Given the description of an element on the screen output the (x, y) to click on. 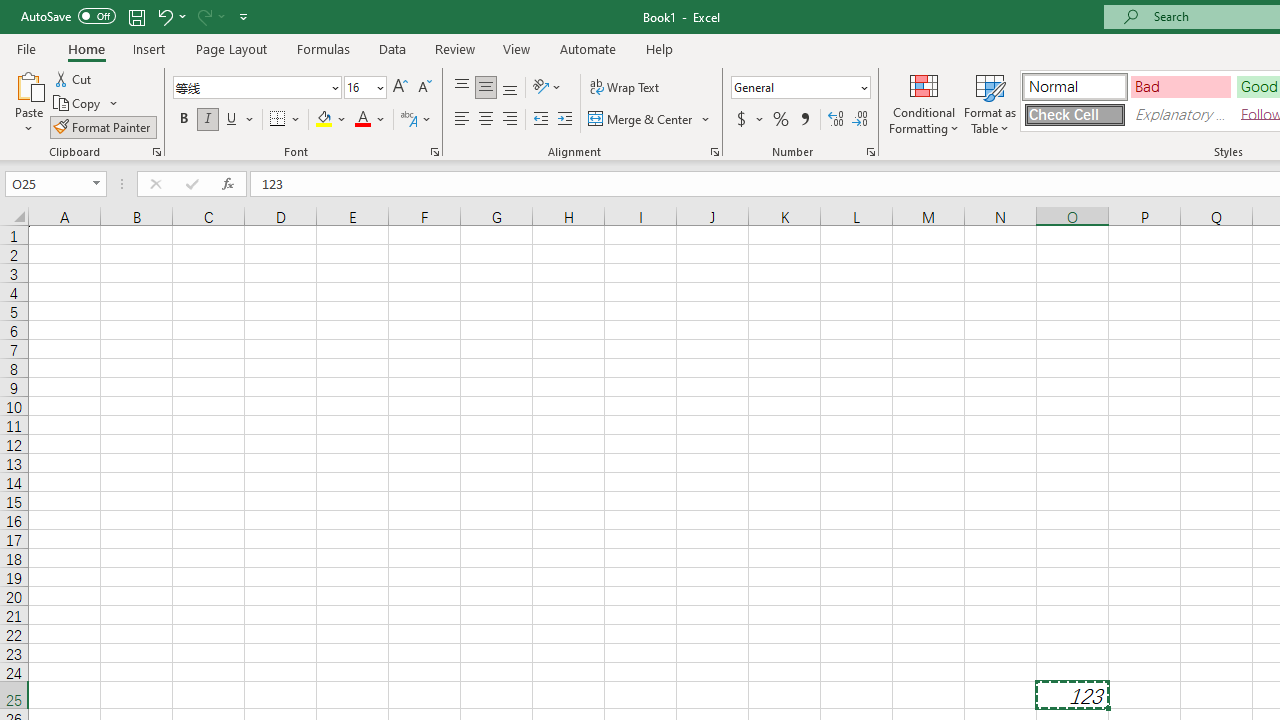
More Options (760, 119)
Cut (73, 78)
Merge & Center (649, 119)
Bottom Border (278, 119)
Decrease Indent (540, 119)
Redo (209, 15)
Underline (239, 119)
Font Size (365, 87)
Redo (203, 15)
Bold (183, 119)
Increase Font Size (399, 87)
Review (454, 48)
Bottom Align (509, 87)
Save (136, 15)
Copy (78, 103)
